Given the description of an element on the screen output the (x, y) to click on. 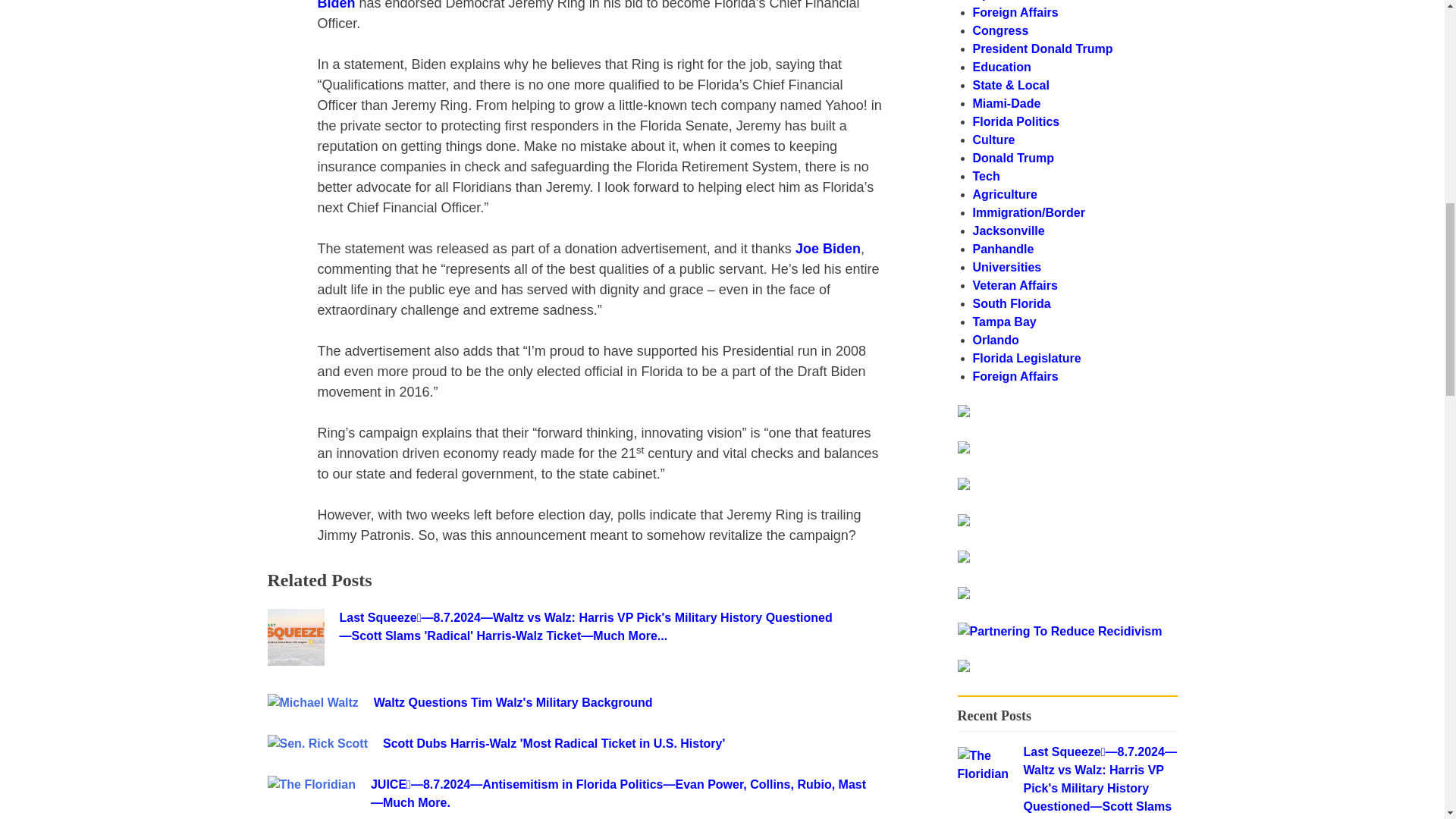
Search (1138, 419)
Scott Dubs Harris-Walz 'Most Radical Ticket in U.S. History' (632, 743)
Partnering To Reduce Recidivism (962, 412)
Waltz Questions Tim Walz's Military Background (624, 702)
Partnering To Reduce Recidivism (962, 667)
Partnering To Reduce Recidivism (1058, 631)
Search (1138, 419)
Joe Biden (827, 248)
Search (1138, 419)
Partnering To Reduce Recidivism (1058, 631)
Joe Biden (590, 5)
